Given the description of an element on the screen output the (x, y) to click on. 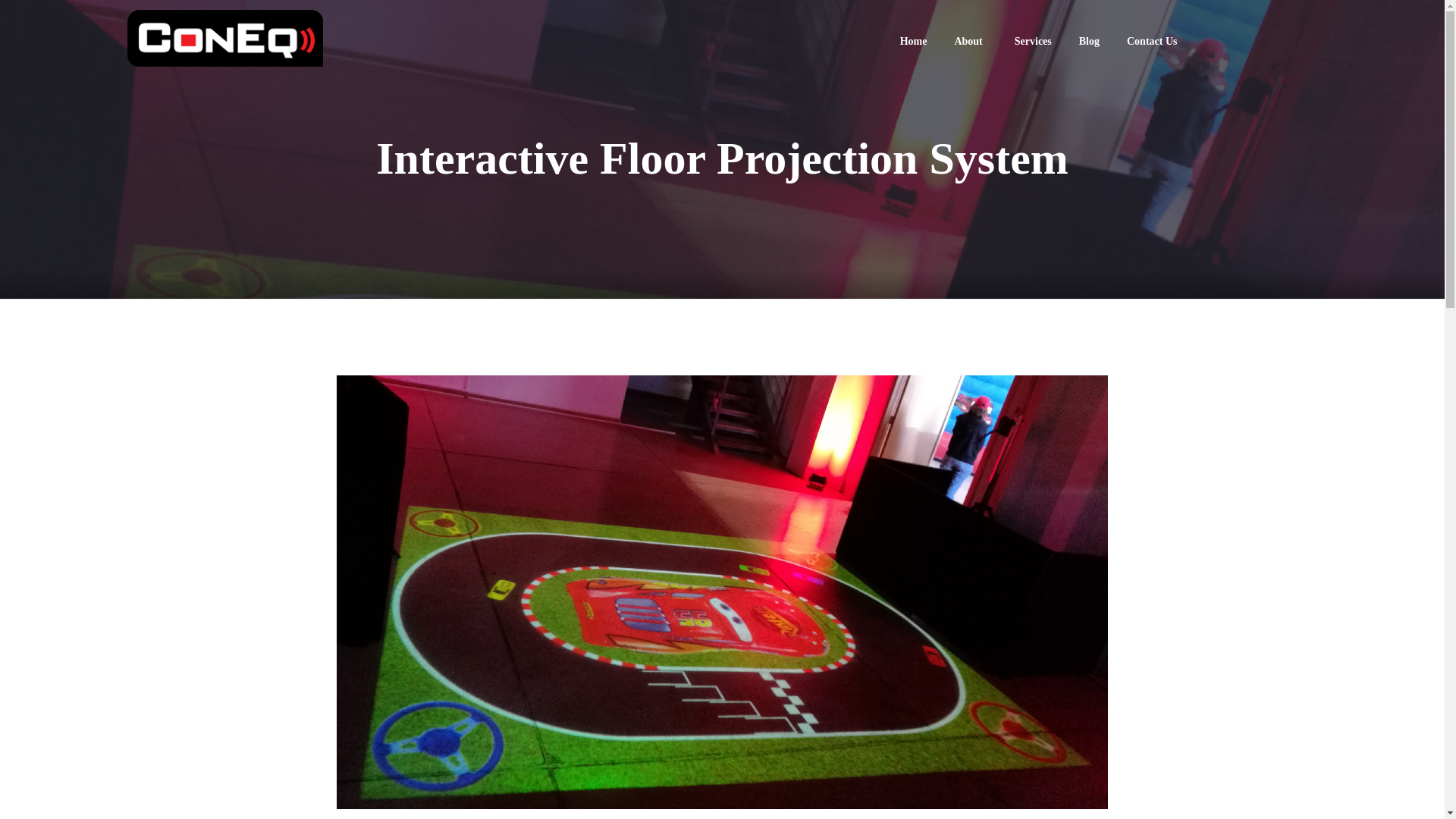
About (967, 41)
Contact Us (1145, 41)
Home (913, 41)
Services (1033, 41)
Blog (1089, 41)
